Given the description of an element on the screen output the (x, y) to click on. 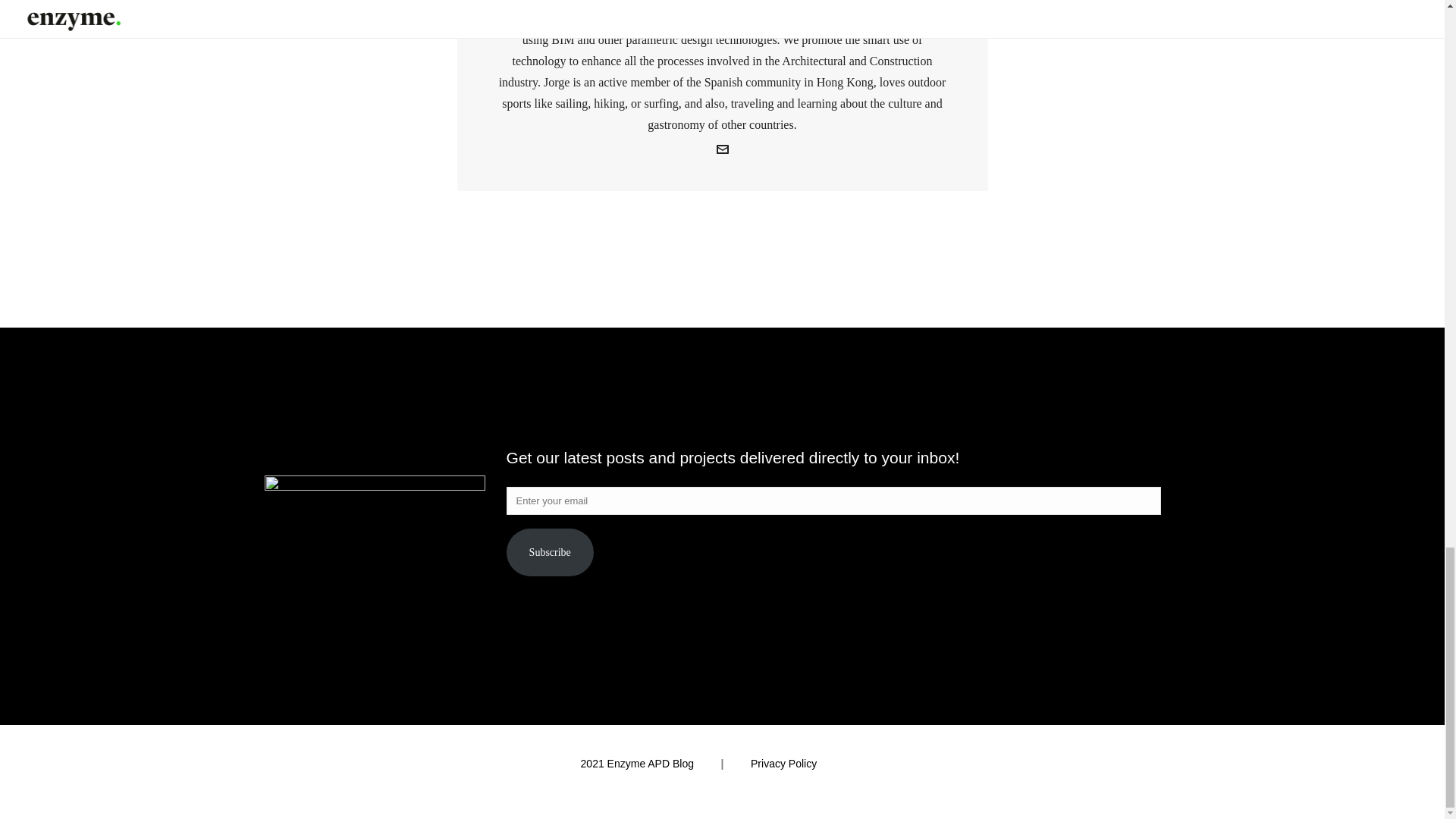
Privacy Policy (783, 763)
Enter your email (833, 500)
Subscribe (550, 552)
Get in touch with me via email (722, 152)
